Given the description of an element on the screen output the (x, y) to click on. 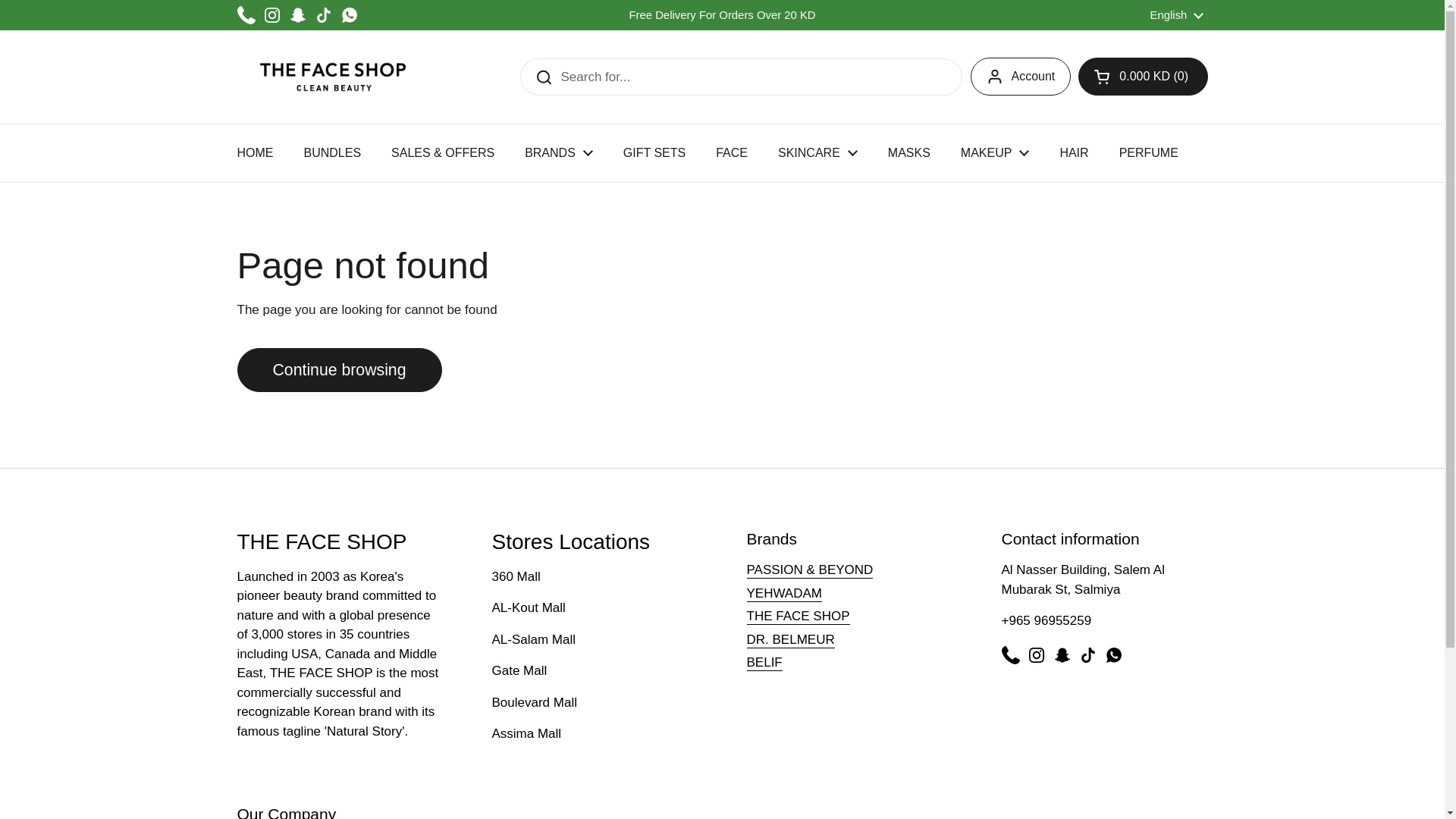
The Face Shop (331, 76)
Free Delivery For Orders Over 20 KD (721, 15)
GIFT SETS (654, 152)
PERFUME (1148, 152)
BUNDLES (331, 152)
TikTok (322, 14)
HOME (254, 152)
HOME (254, 152)
Instagram (271, 14)
SKINCARE (817, 152)
TOOLS (1229, 152)
Snapchat (296, 14)
Account (1021, 76)
Phone (244, 14)
BUNDLES (331, 152)
